Given the description of an element on the screen output the (x, y) to click on. 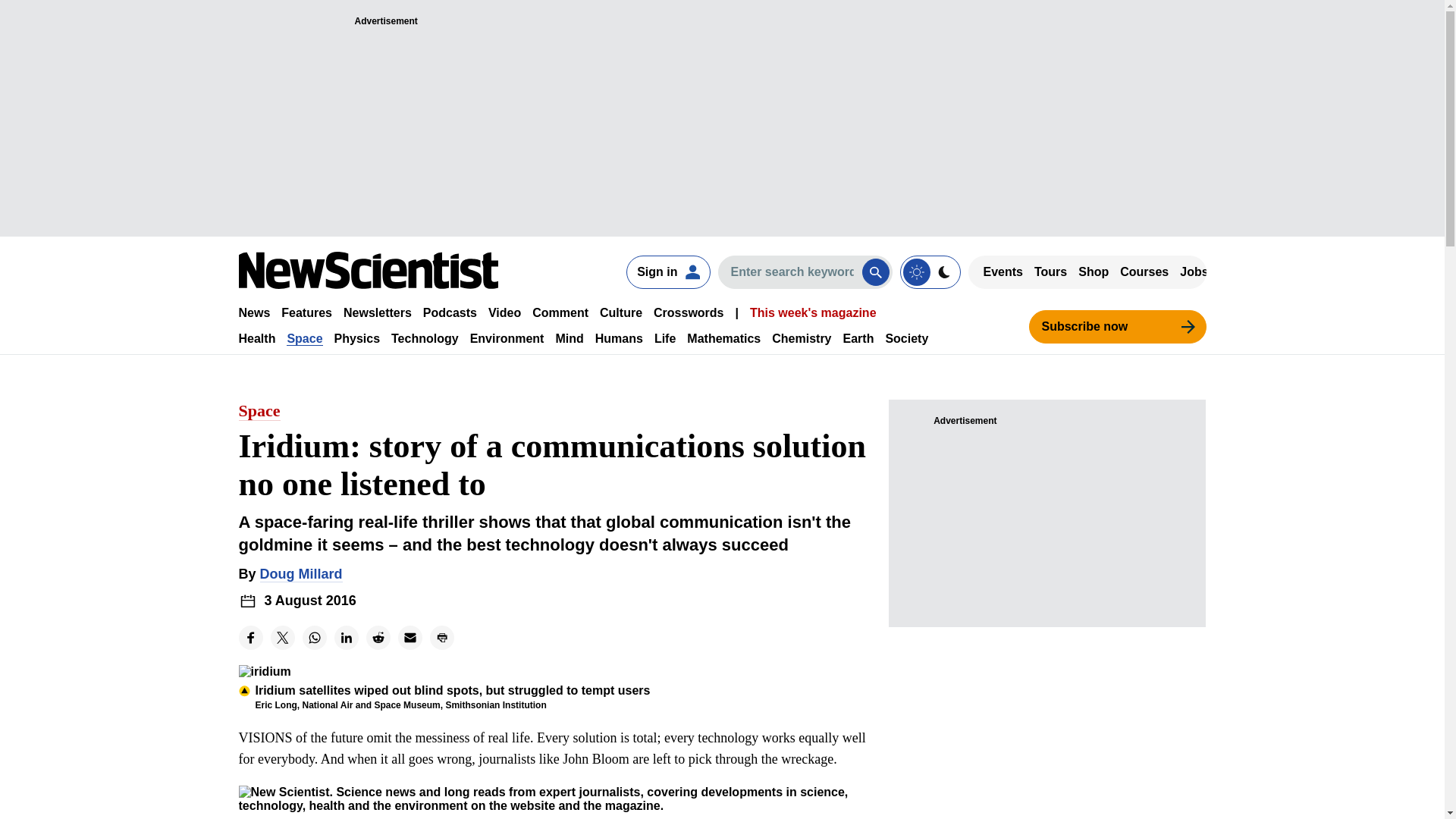
Culture (620, 313)
Courses (1144, 272)
Jobs (1193, 272)
Chemistry (801, 338)
This week's magazine (812, 313)
Sign In page link (668, 272)
Link to the homepage (367, 270)
Environment (507, 338)
Space (303, 338)
Features (306, 313)
